Given the description of an element on the screen output the (x, y) to click on. 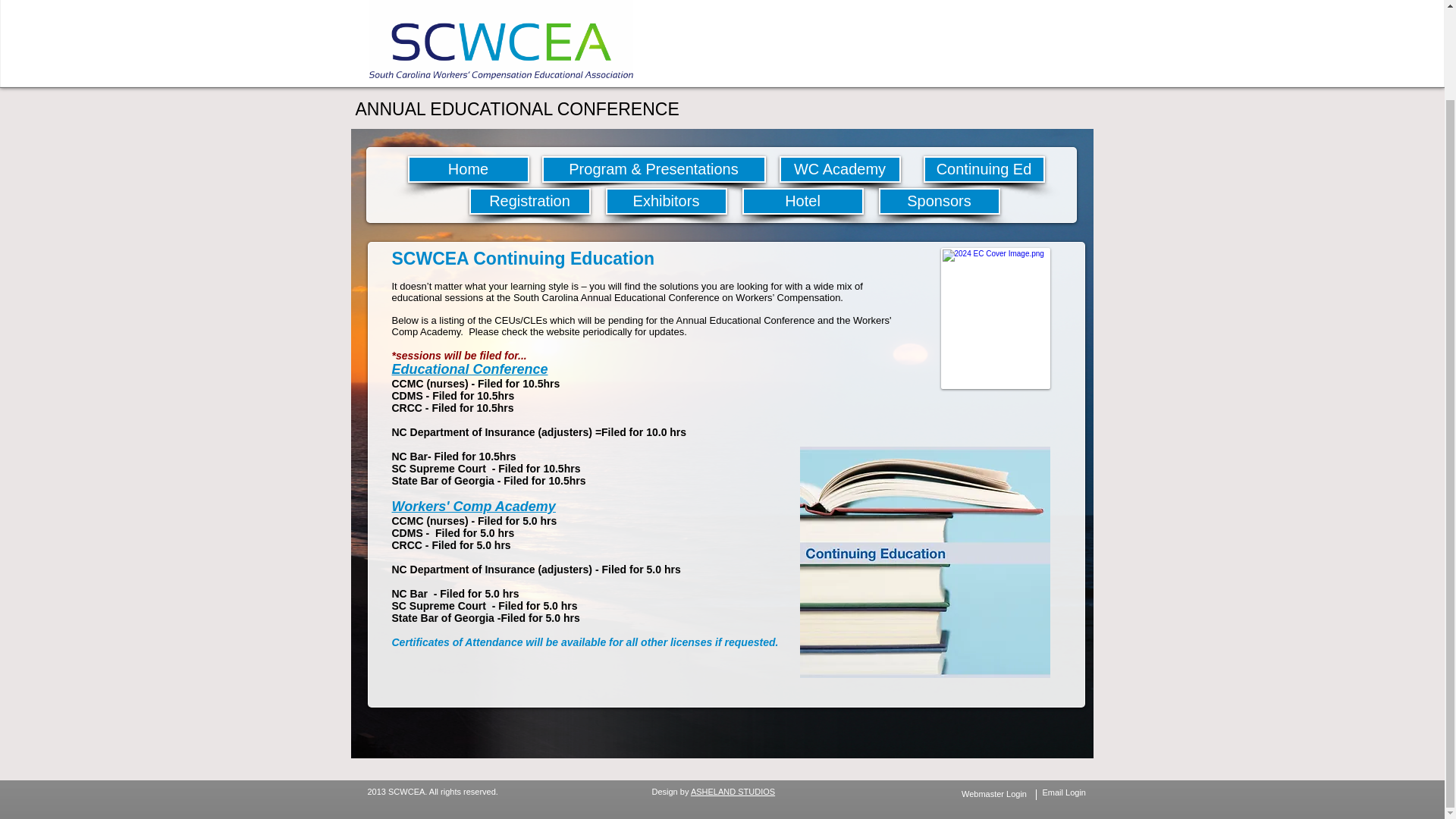
Continuing Ed (984, 169)
Home (468, 169)
WC Academy (839, 169)
continuingeducation.jpg (924, 562)
